Given the description of an element on the screen output the (x, y) to click on. 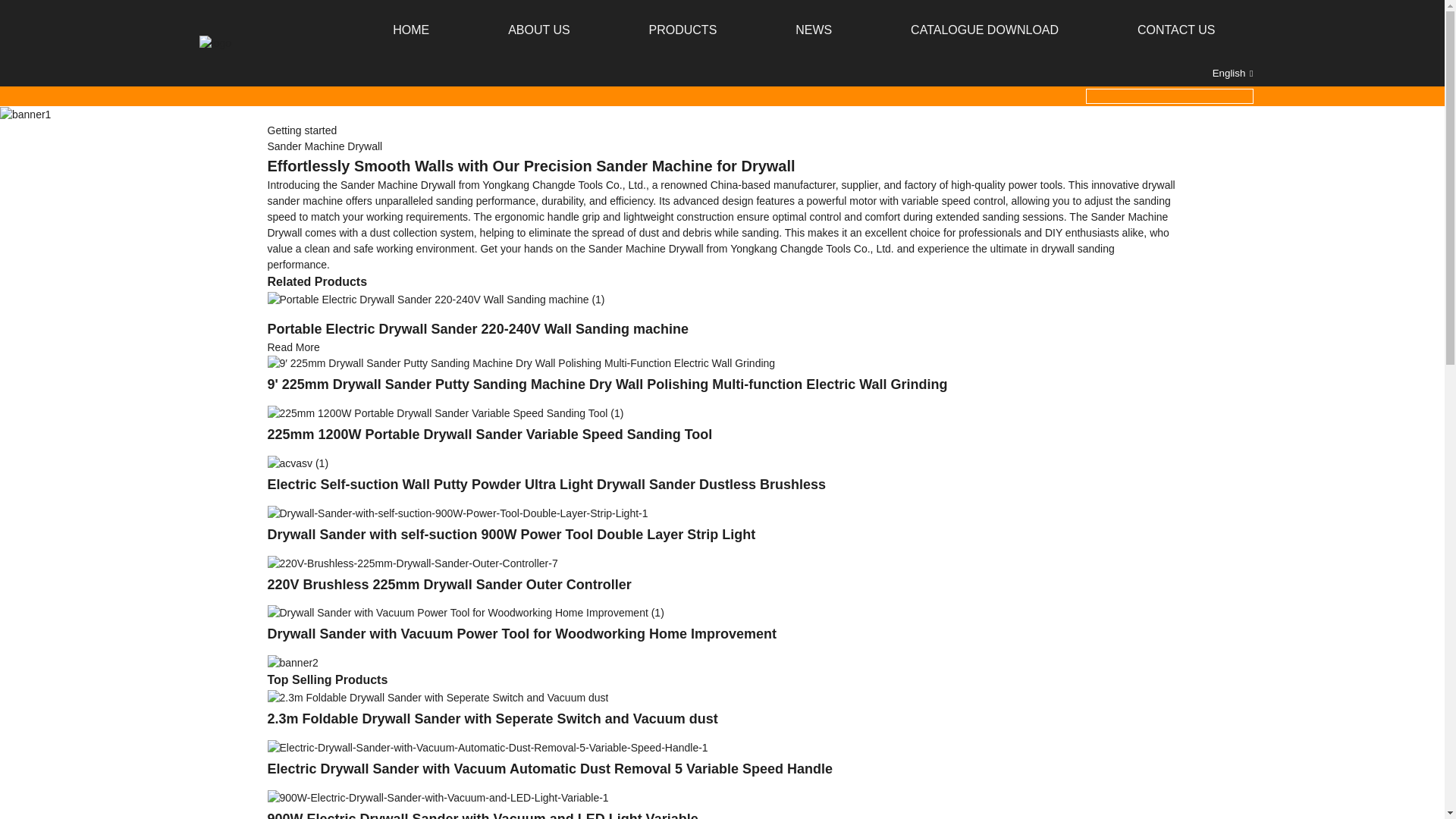
220V Brushless 225mm Drywall Sander Outer Controller (448, 584)
CONTACT US (1176, 30)
Sander Machine Drywall (323, 146)
NEWS (813, 30)
PRODUCTS (683, 30)
Getting started (301, 130)
